Given the description of an element on the screen output the (x, y) to click on. 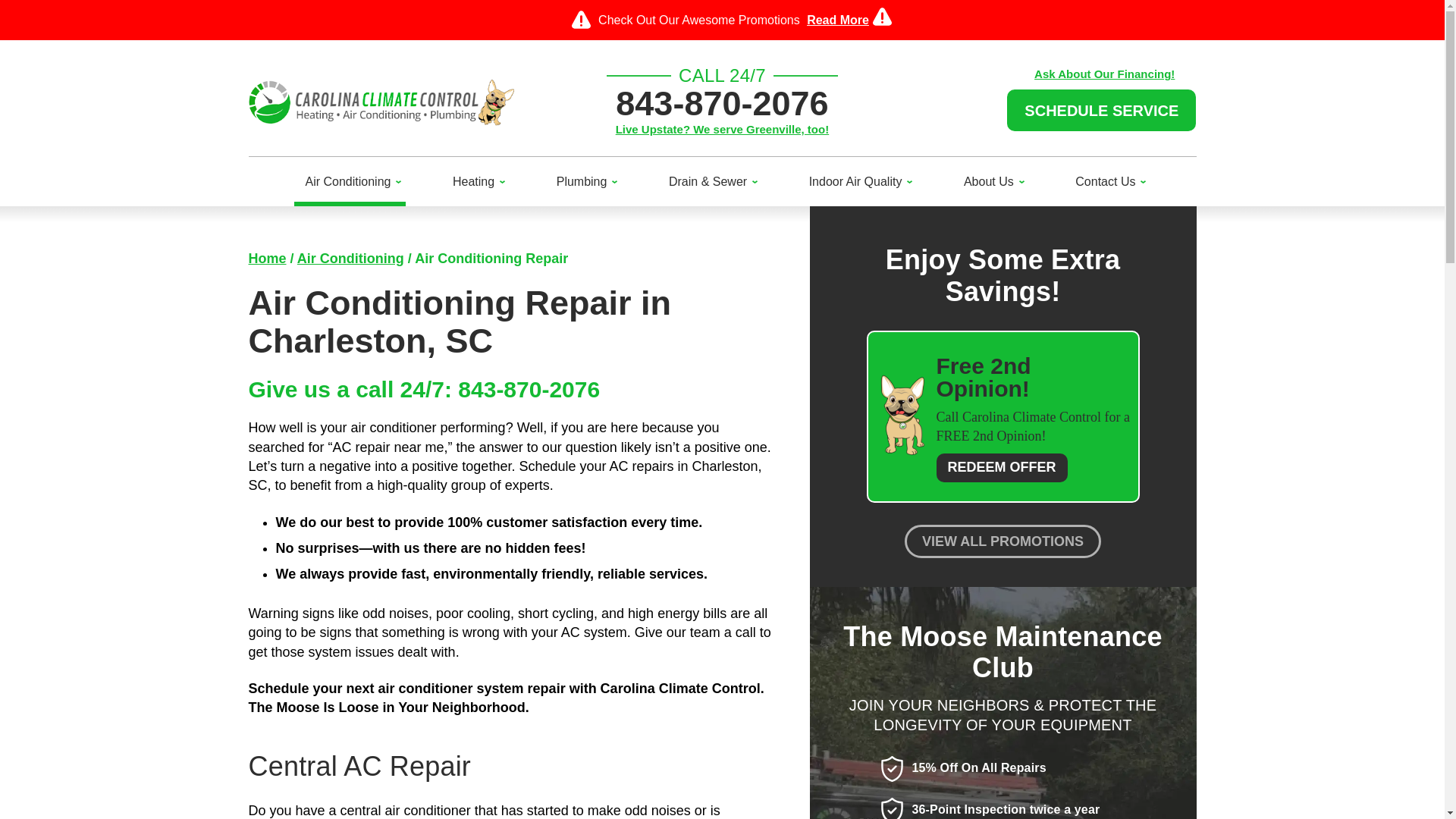
SCHEDULE SERVICE (1101, 110)
Read More (837, 19)
Live Upstate? We serve Greenville, too! (721, 128)
Top-Rated Home Comfort Services in Charleston, SC (267, 258)
Air Conditioning in Charleston, SC (350, 258)
Ask About Our Financing! (1103, 73)
Heating (475, 181)
Air Conditioning (350, 181)
843-870-2076 (721, 103)
